Given the description of an element on the screen output the (x, y) to click on. 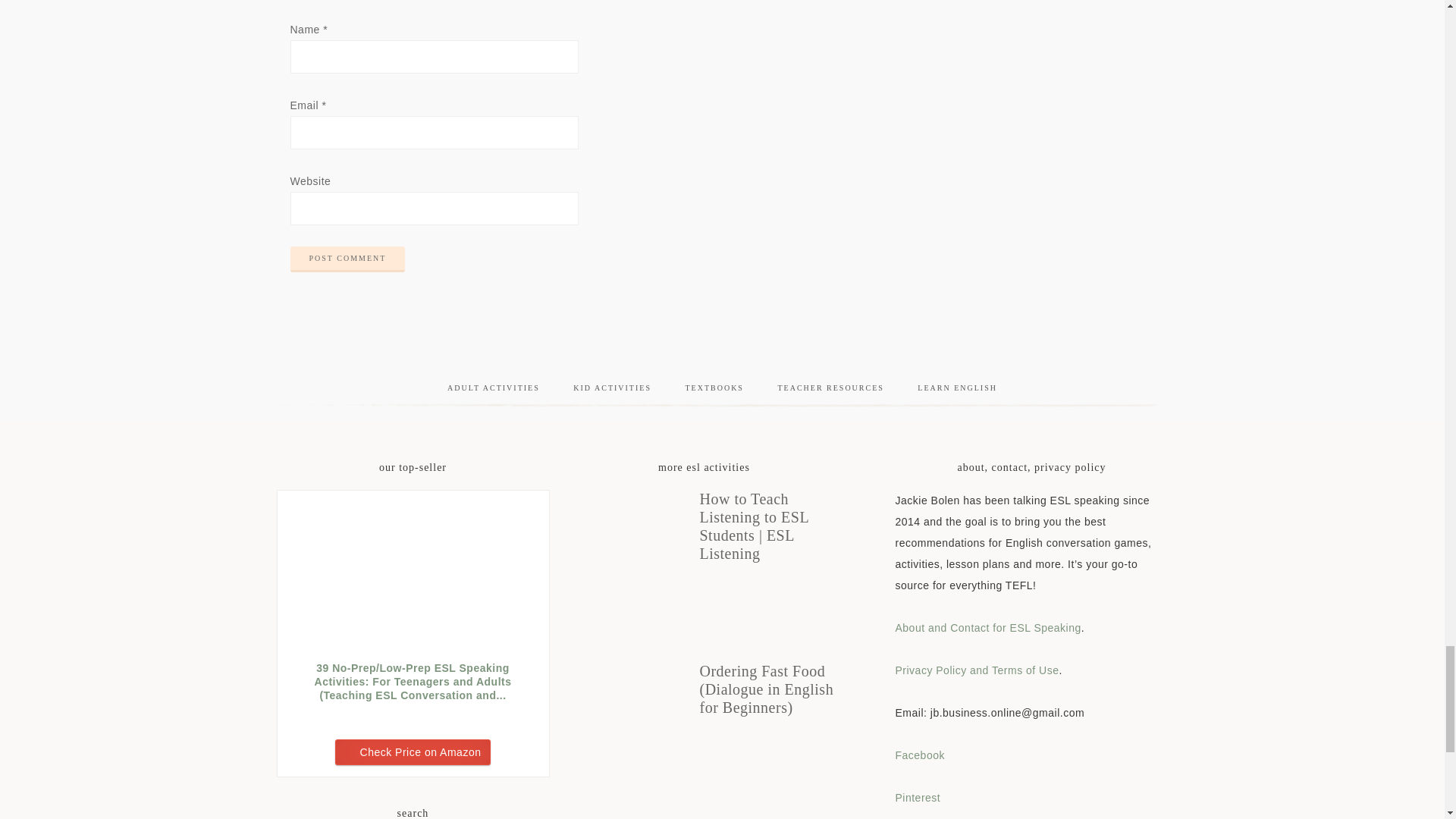
Post Comment (346, 258)
Post Comment (346, 258)
